Given the description of an element on the screen output the (x, y) to click on. 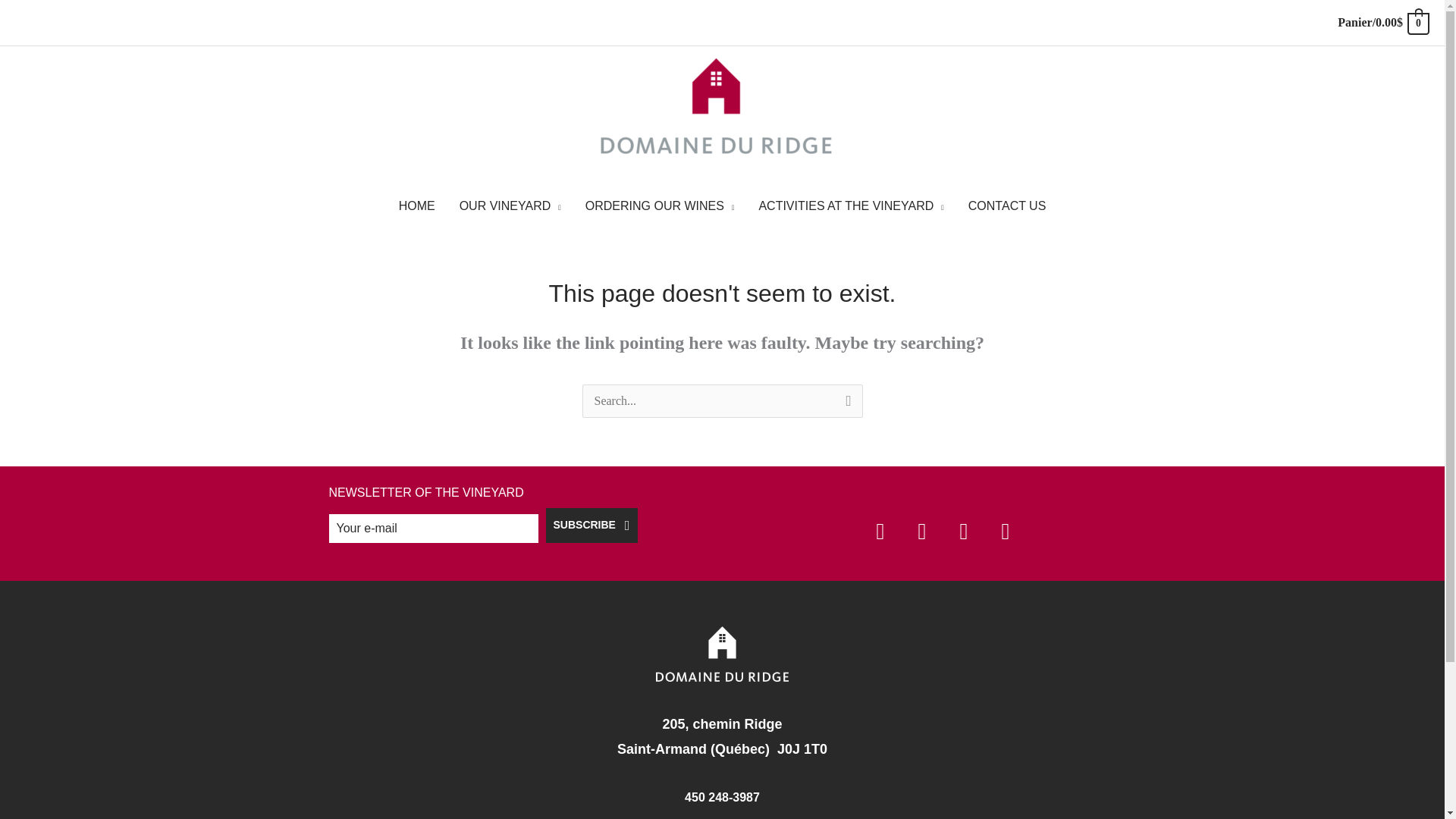
ORDERING OUR WINES (659, 205)
CONTACT US (1007, 205)
HOME (416, 205)
logo-domaine-du-ridge-blanc (722, 653)
ACTIVITIES AT THE VINEYARD (850, 205)
OUR VINEYARD (509, 205)
